Given the description of an element on the screen output the (x, y) to click on. 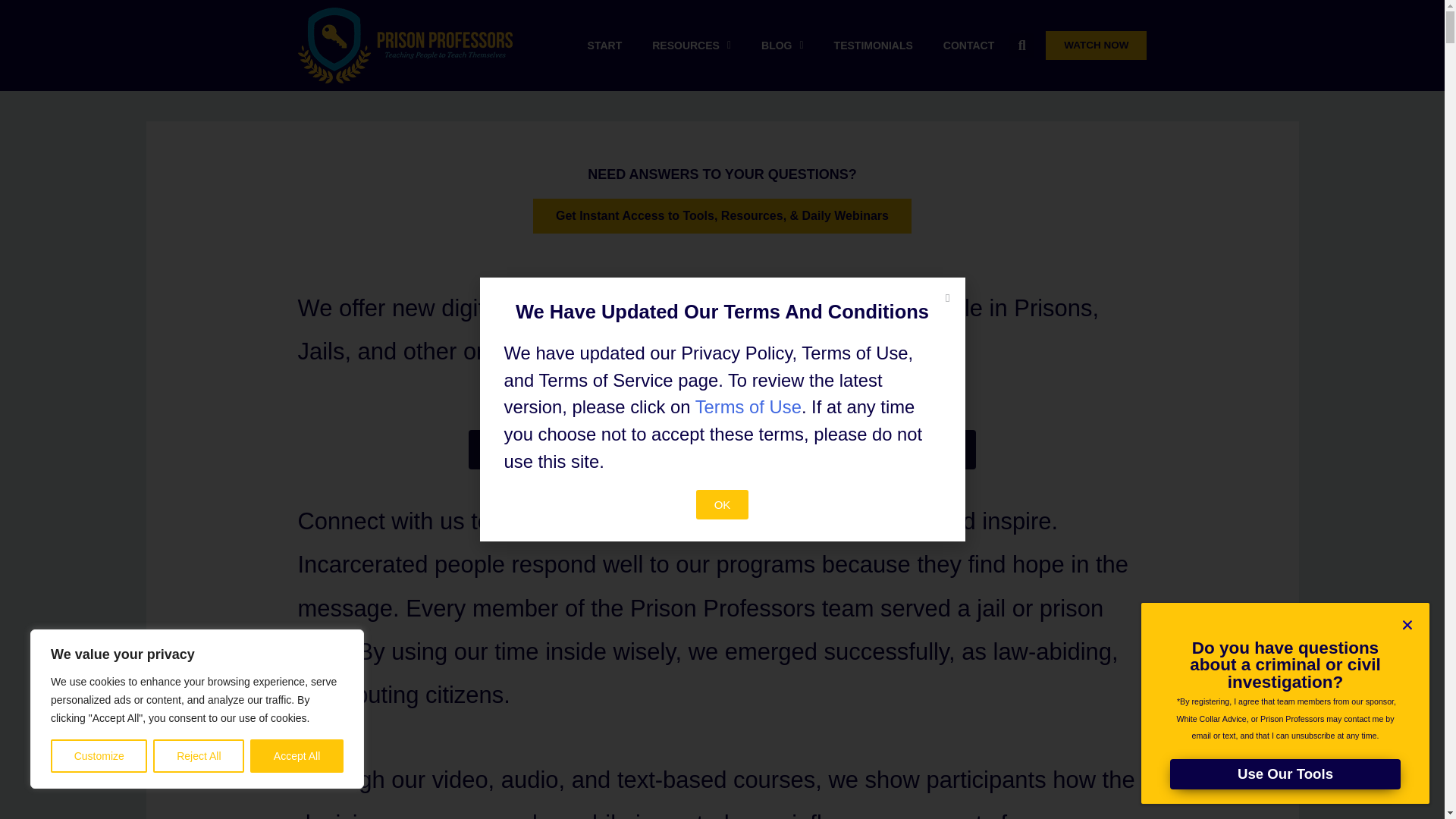
TESTIMONIALS (873, 45)
Reject All (198, 756)
RESOURCES (691, 45)
START (604, 45)
Customize (98, 756)
BLOG (781, 45)
Accept All (296, 756)
CONTACT (968, 45)
